Given the description of an element on the screen output the (x, y) to click on. 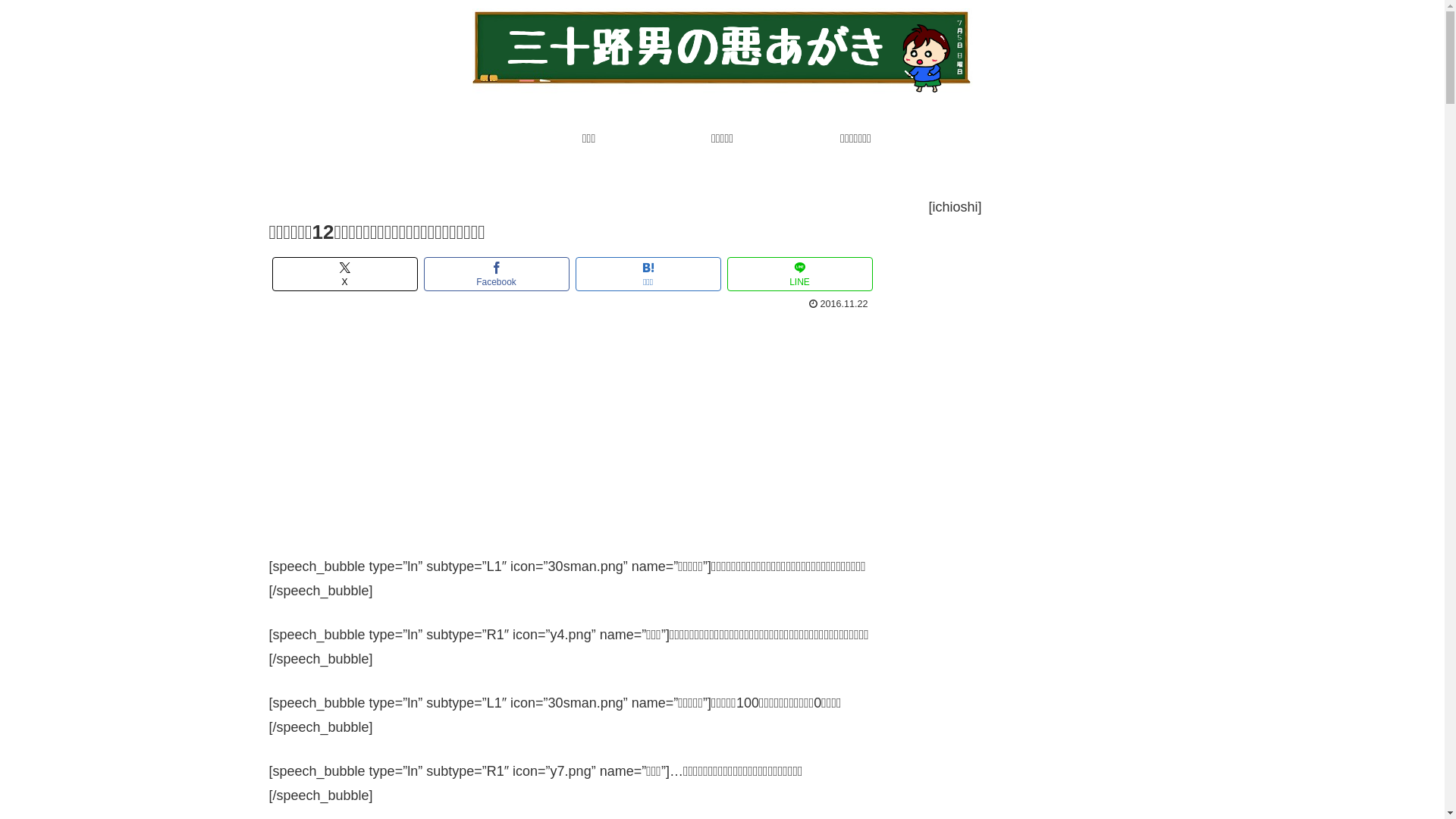
Facebook Element type: text (495, 274)
Advertisement Element type: hover (571, 428)
X Element type: text (344, 274)
LINE Element type: text (799, 274)
